Given the description of an element on the screen output the (x, y) to click on. 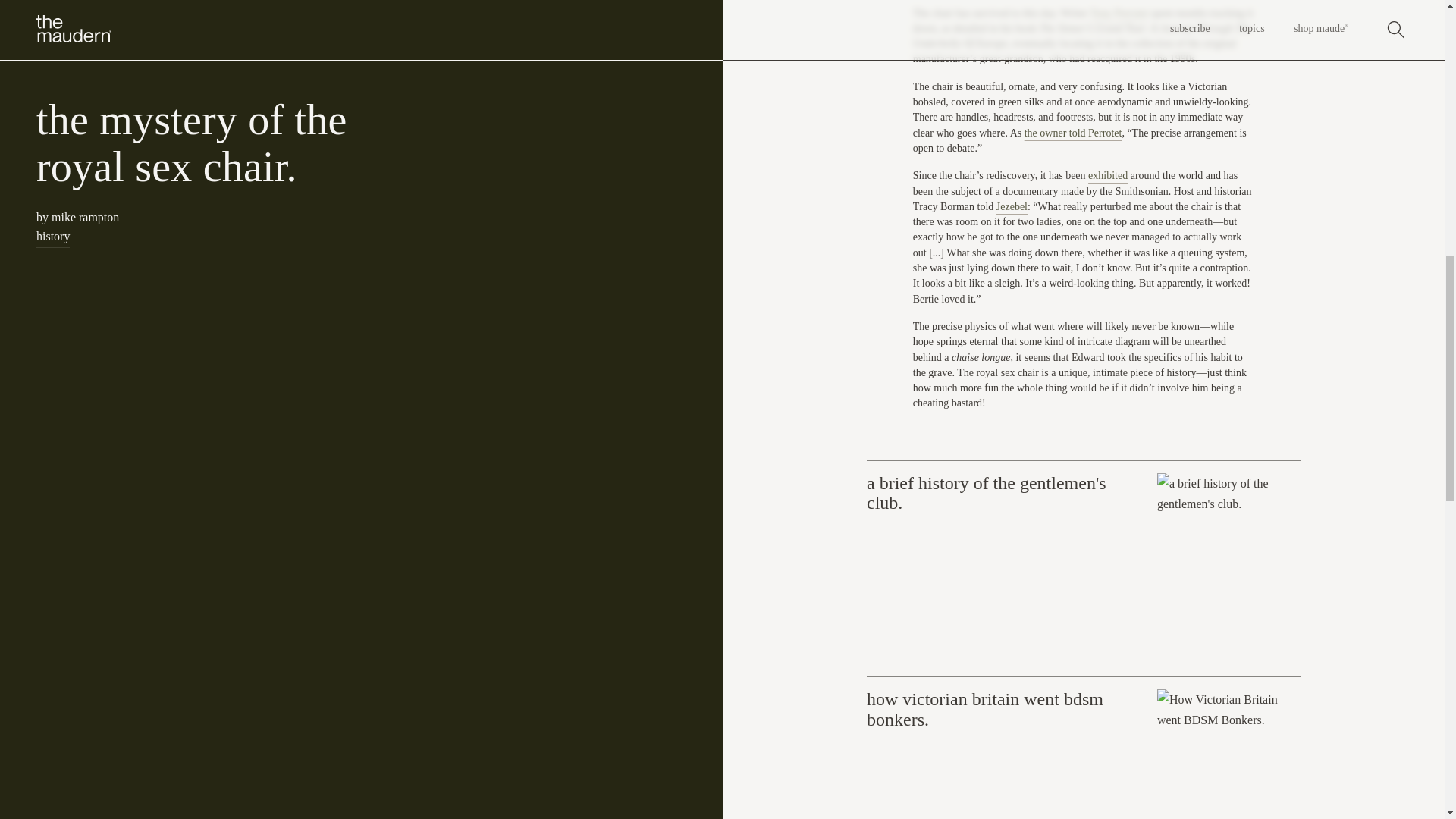
exhibited (1106, 174)
Tony Perrotet (1119, 12)
Jezebel (1011, 206)
a brief history of the gentlemen's club. (1083, 569)
the owner told Perrotet (1073, 132)
how victorian britain went bdsm bonkers. (1083, 748)
